Given the description of an element on the screen output the (x, y) to click on. 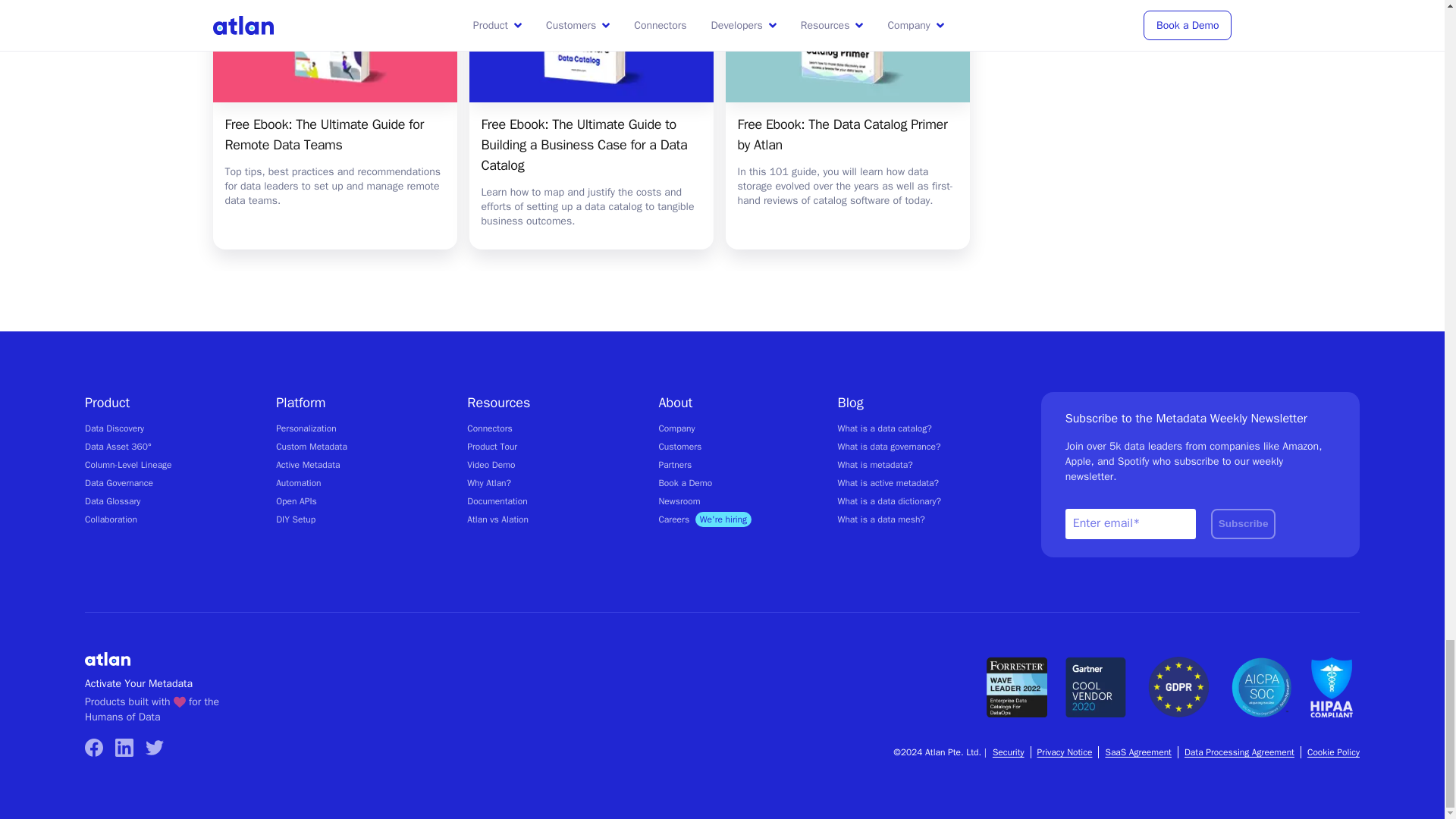
Subscribe (1243, 523)
